Given the description of an element on the screen output the (x, y) to click on. 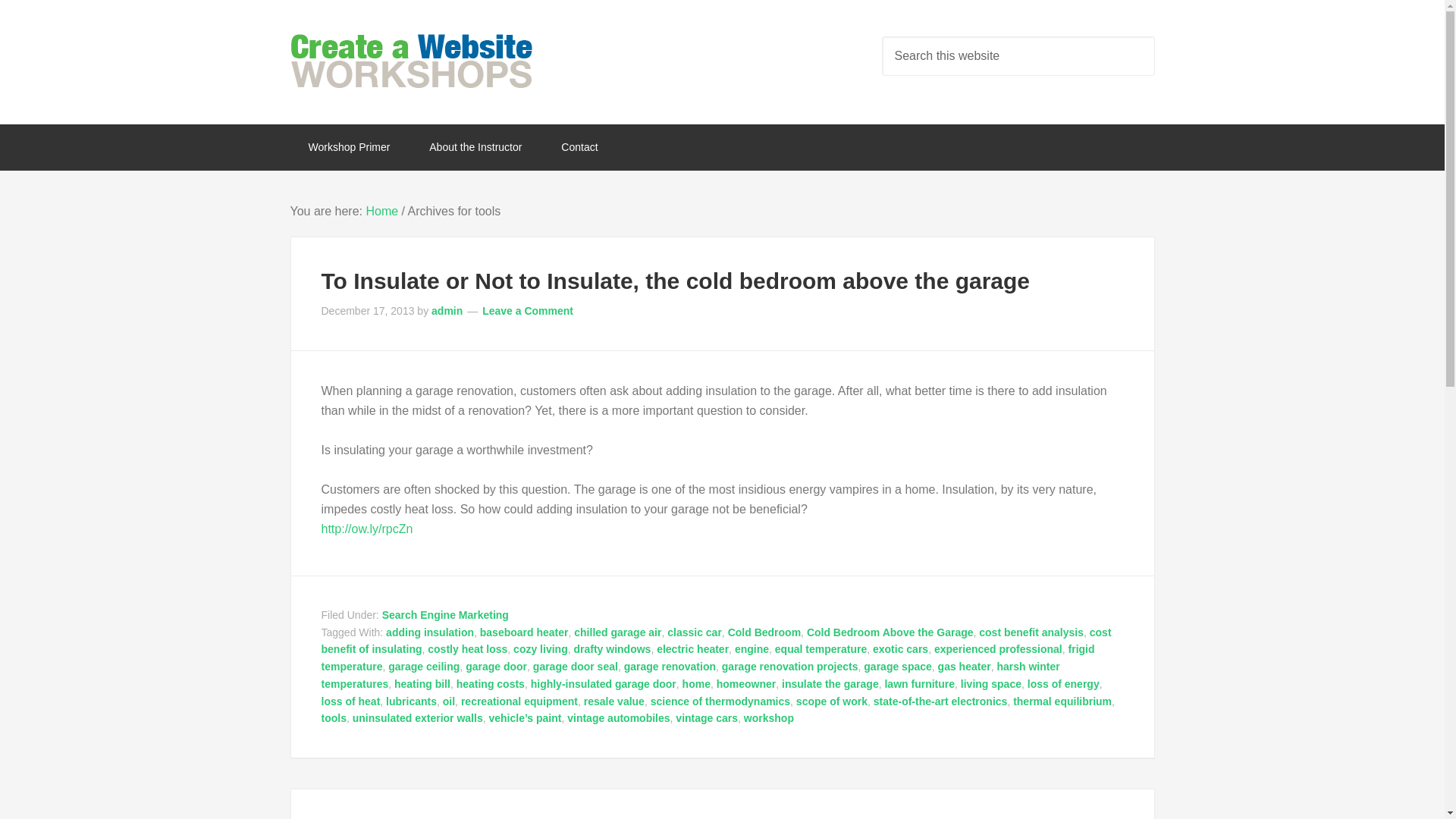
About the Instructor (475, 147)
cost benefit analysis (1030, 632)
Create a Website Workshops (410, 60)
heating bill (421, 684)
gas heater (964, 666)
garage renovation projects (790, 666)
garage door (496, 666)
frigid temperature (707, 657)
chilled garage air (617, 632)
equal temperature (820, 648)
Workshop Primer (348, 147)
garage door seal (574, 666)
Cold Bedroom Above the Garage (890, 632)
